Given the description of an element on the screen output the (x, y) to click on. 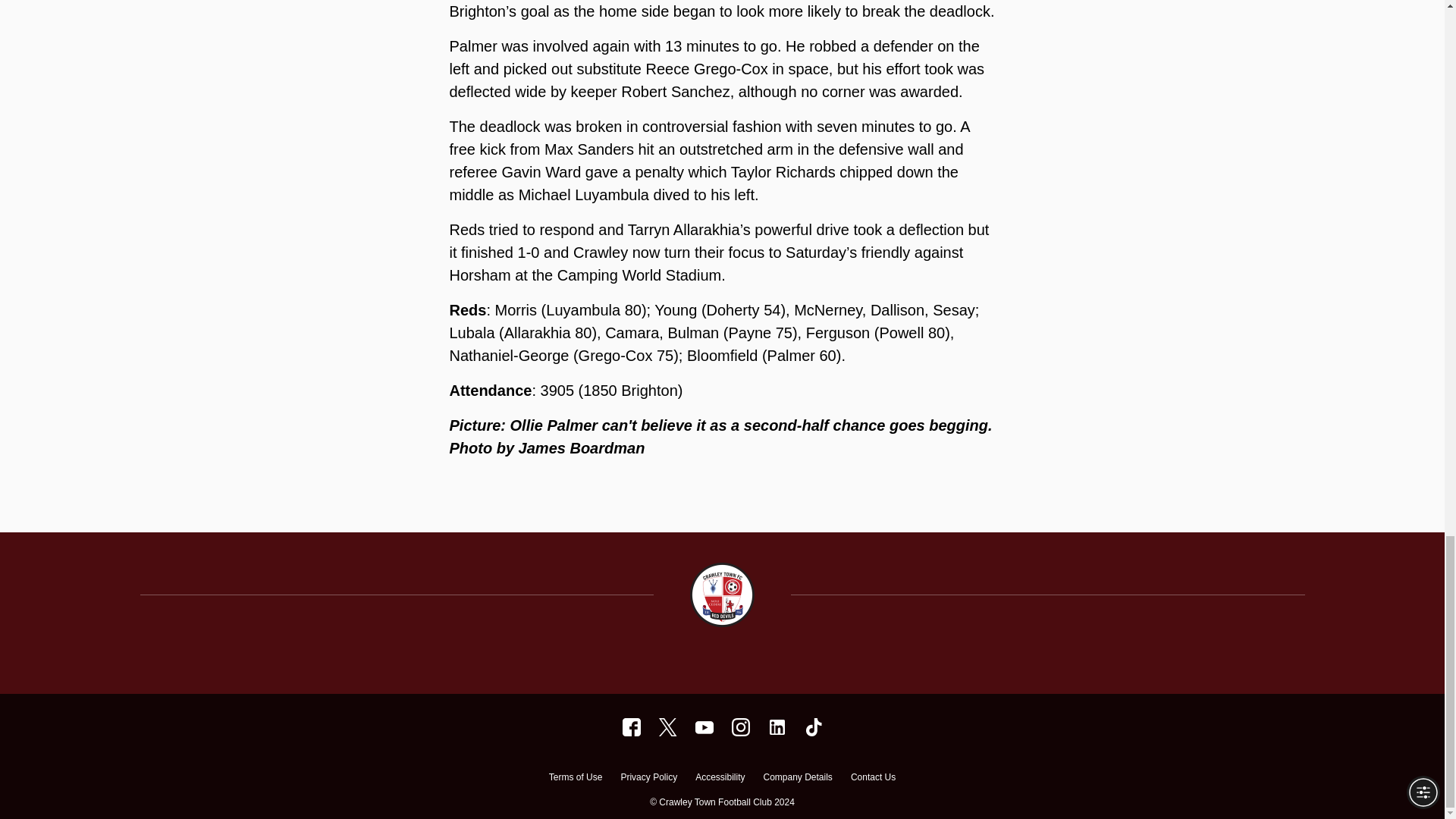
Privacy Policy (648, 779)
crawleytownfootballclub (776, 727)
Privacy Policy (648, 779)
Accessibility (719, 779)
Contact Us (872, 779)
Company Details (796, 779)
Company Details (796, 779)
crawleytown (630, 727)
Contact Us (872, 779)
Accessibility (719, 779)
Terms of Use (575, 779)
Terms of Use (575, 779)
